Given the description of an element on the screen output the (x, y) to click on. 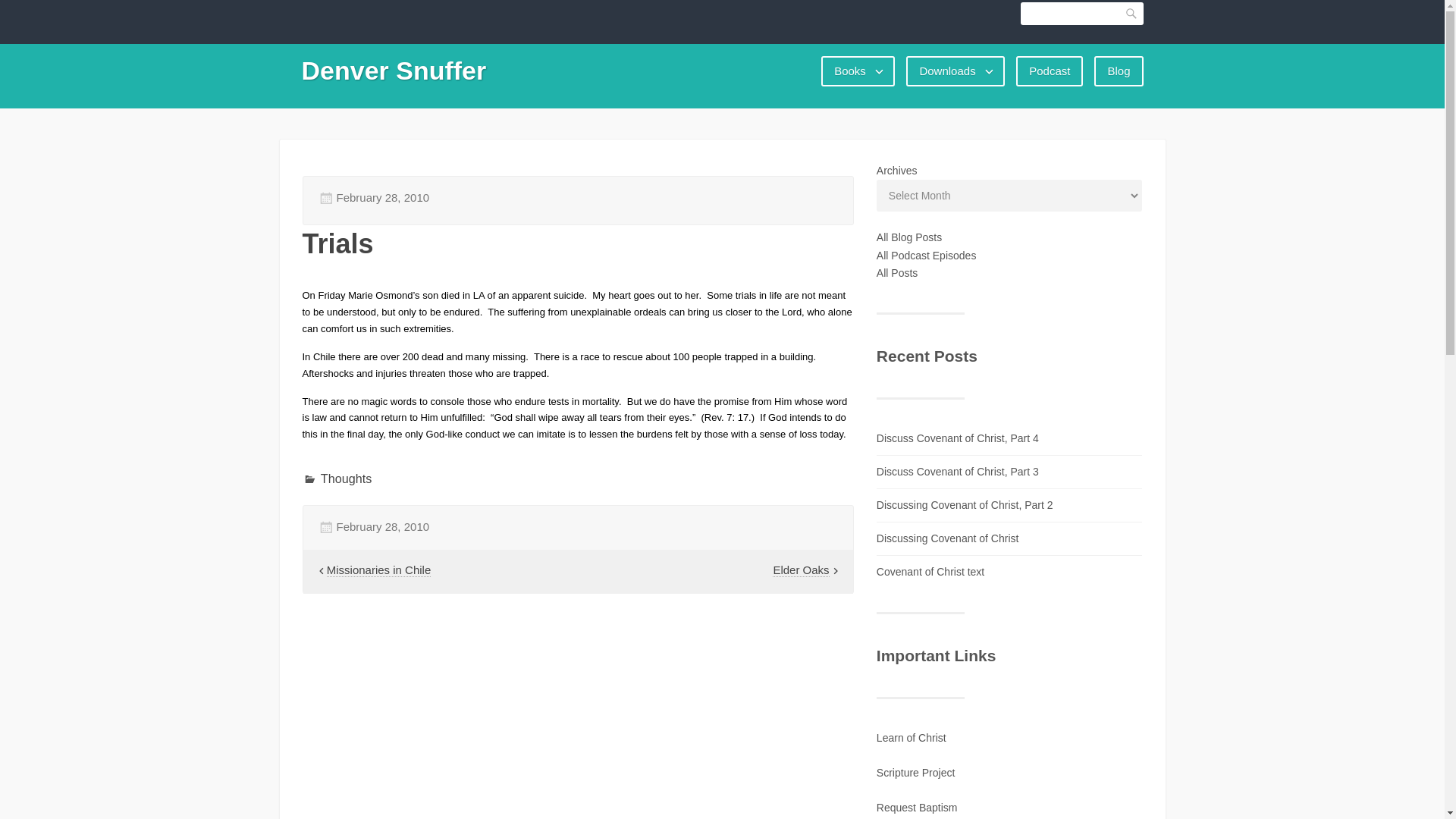
Blog (1118, 71)
Downloads (954, 71)
Books (858, 71)
Podcast (1049, 71)
Books by Denver Snuffer Jr. (858, 71)
Search (1130, 13)
Denver Snuffer (393, 70)
